Given the description of an element on the screen output the (x, y) to click on. 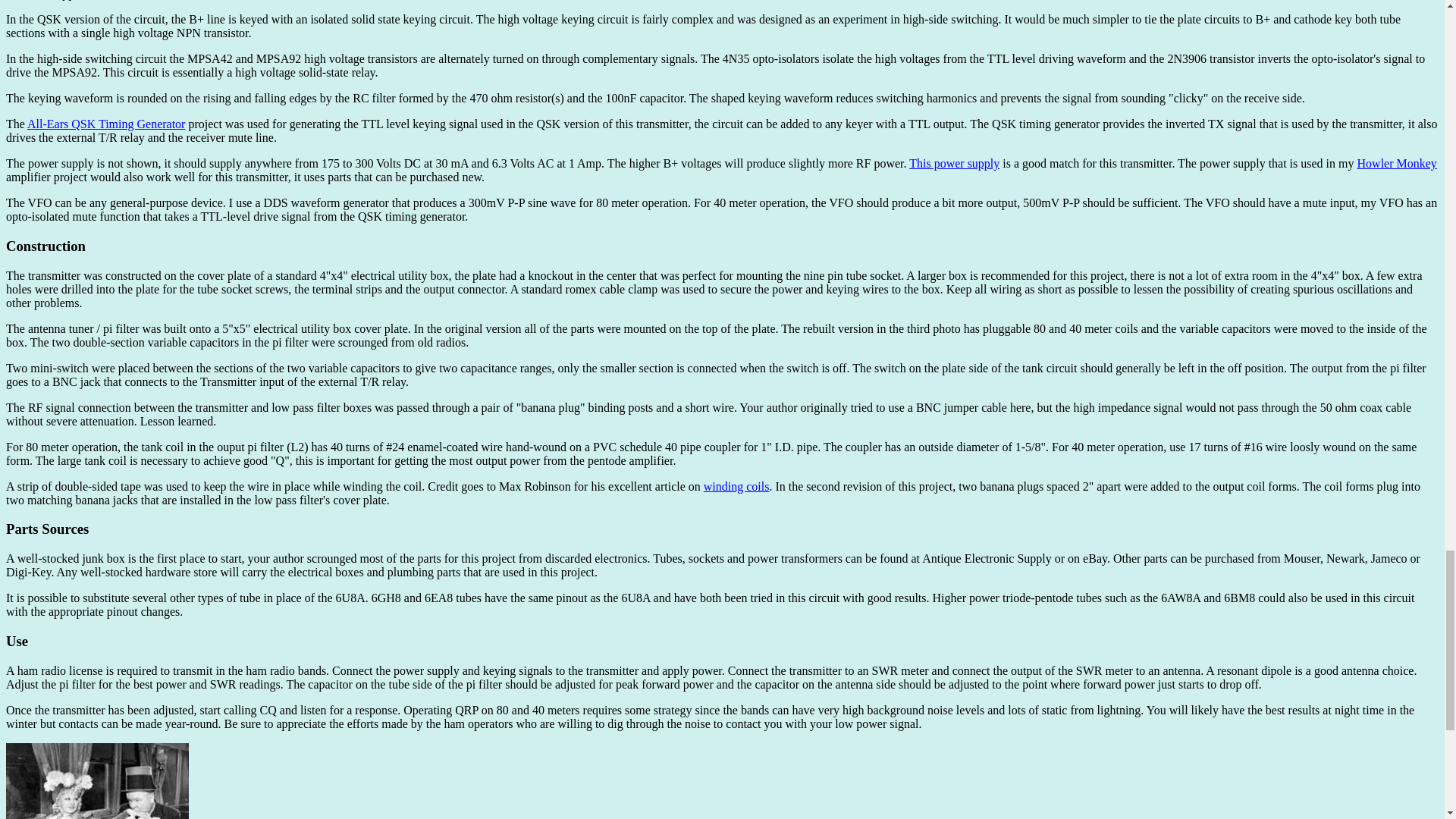
All-Ears QSK Timing Generator (105, 123)
winding coils (736, 486)
This power supply (953, 163)
